Given the description of an element on the screen output the (x, y) to click on. 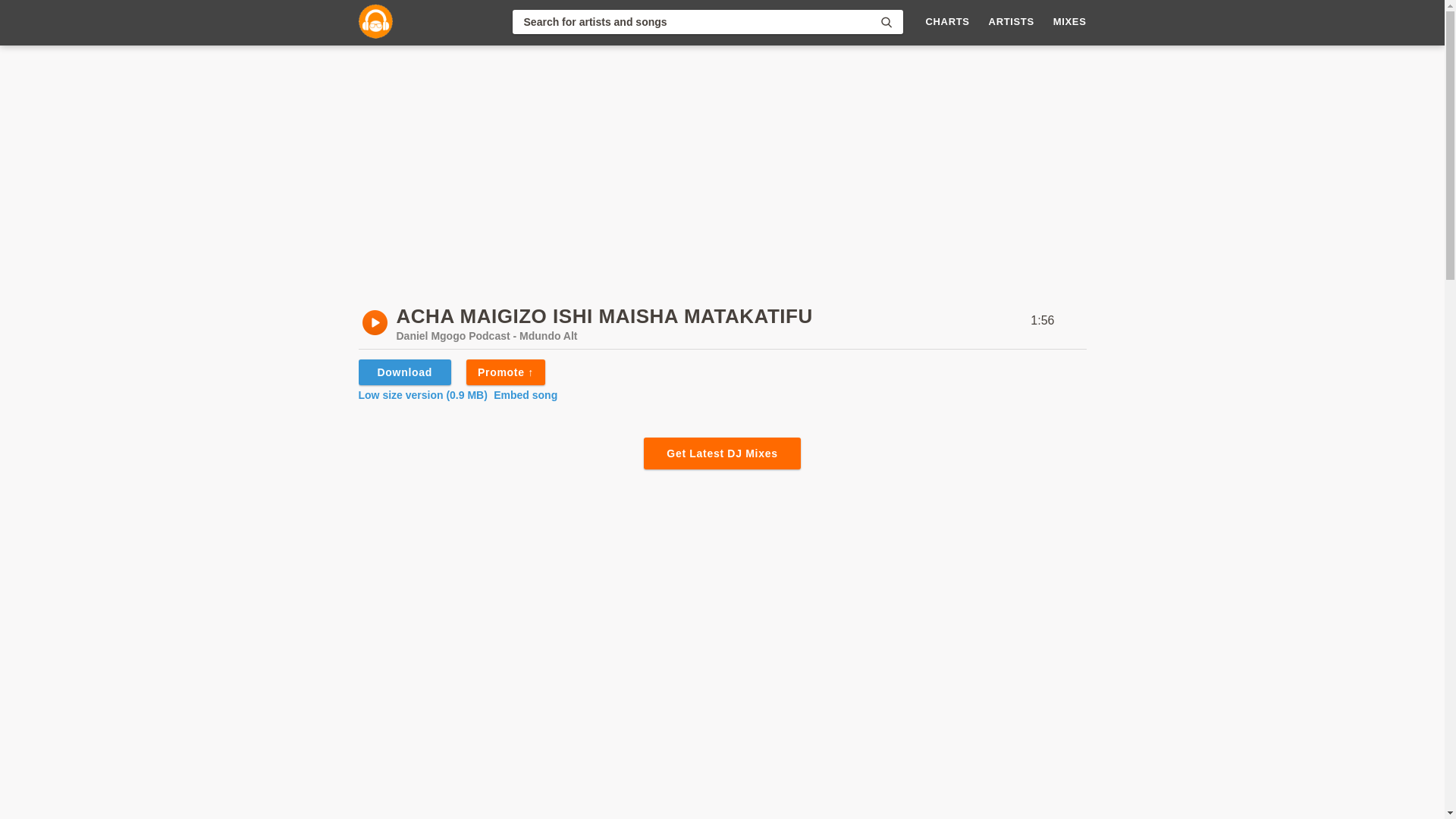
Search (885, 21)
Daniel Mgogo Podcast - Mdundo Alt (486, 336)
Download (403, 371)
CHARTS (947, 21)
ARTISTS (1010, 21)
MIXES (1069, 21)
Advertisement (721, 788)
Get Latest DJ Mixes (721, 453)
